Given the description of an element on the screen output the (x, y) to click on. 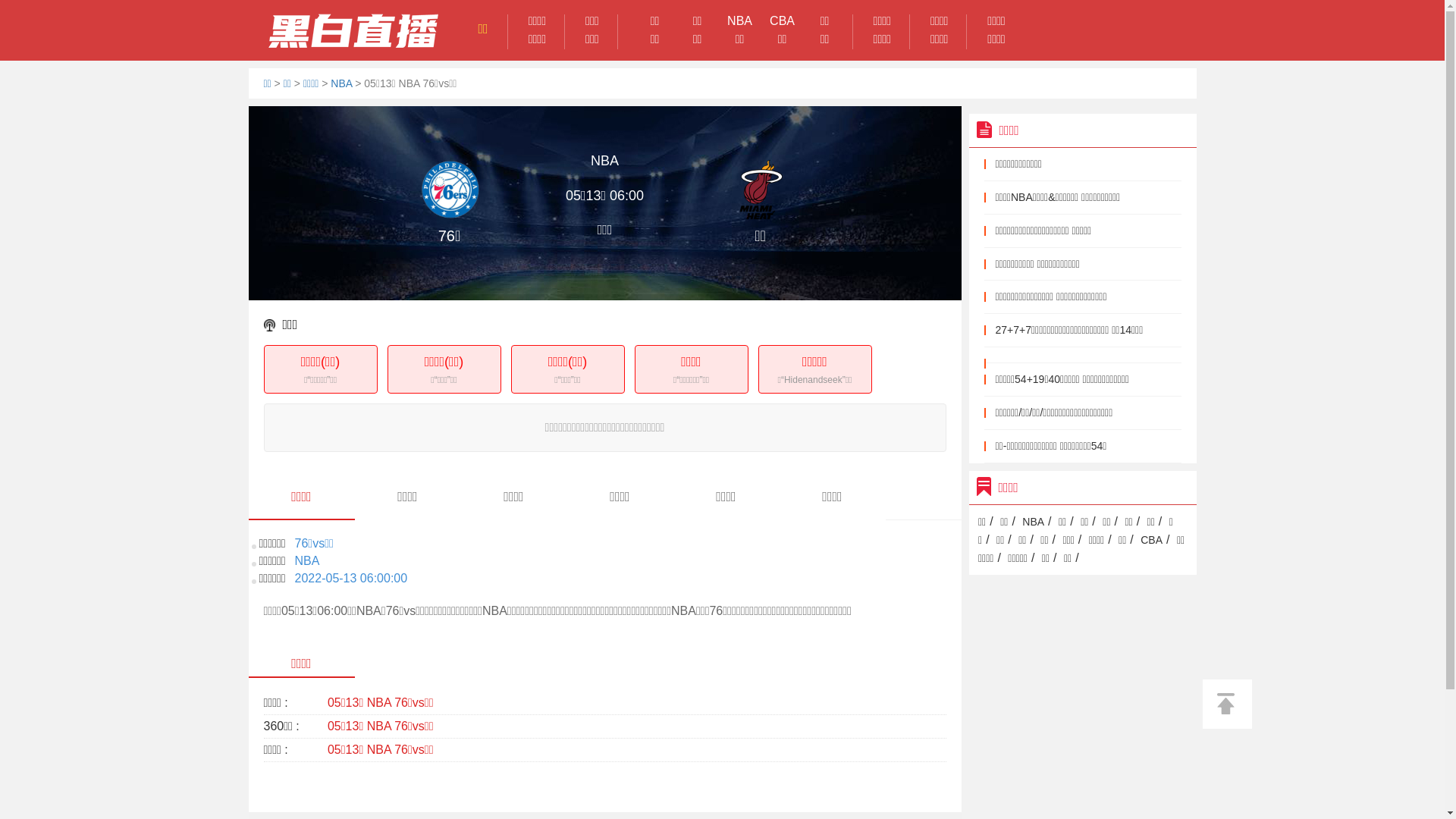
CBA Element type: text (782, 21)
NBA Element type: text (340, 83)
NBA Element type: text (1033, 521)
CBA Element type: text (1151, 539)
NBA Element type: text (739, 21)
